Given the description of an element on the screen output the (x, y) to click on. 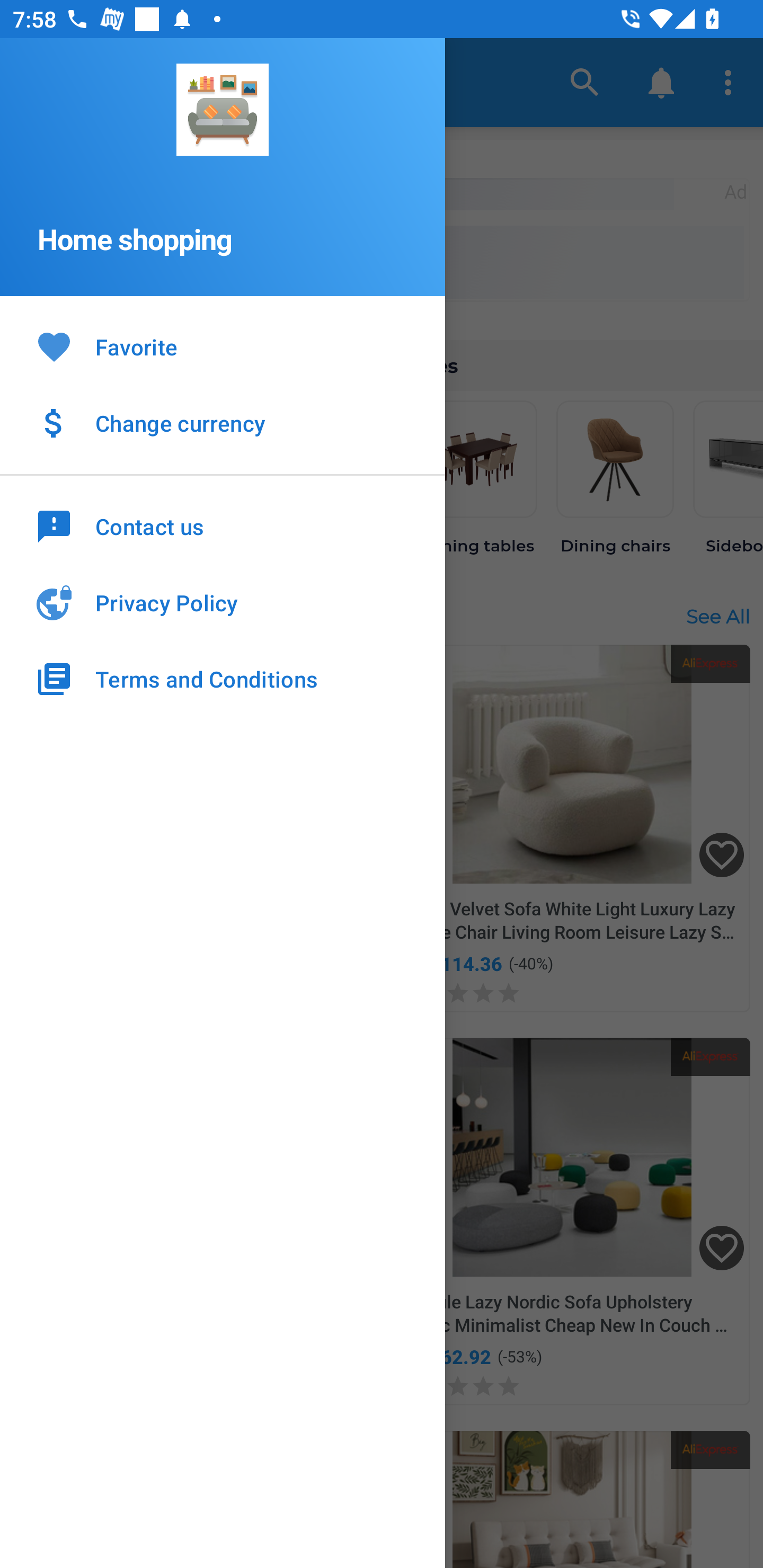
Favorite (222, 346)
Change currency (222, 422)
Contact us (222, 525)
Privacy Policy (222, 602)
Terms and Conditions (222, 678)
